Given the description of an element on the screen output the (x, y) to click on. 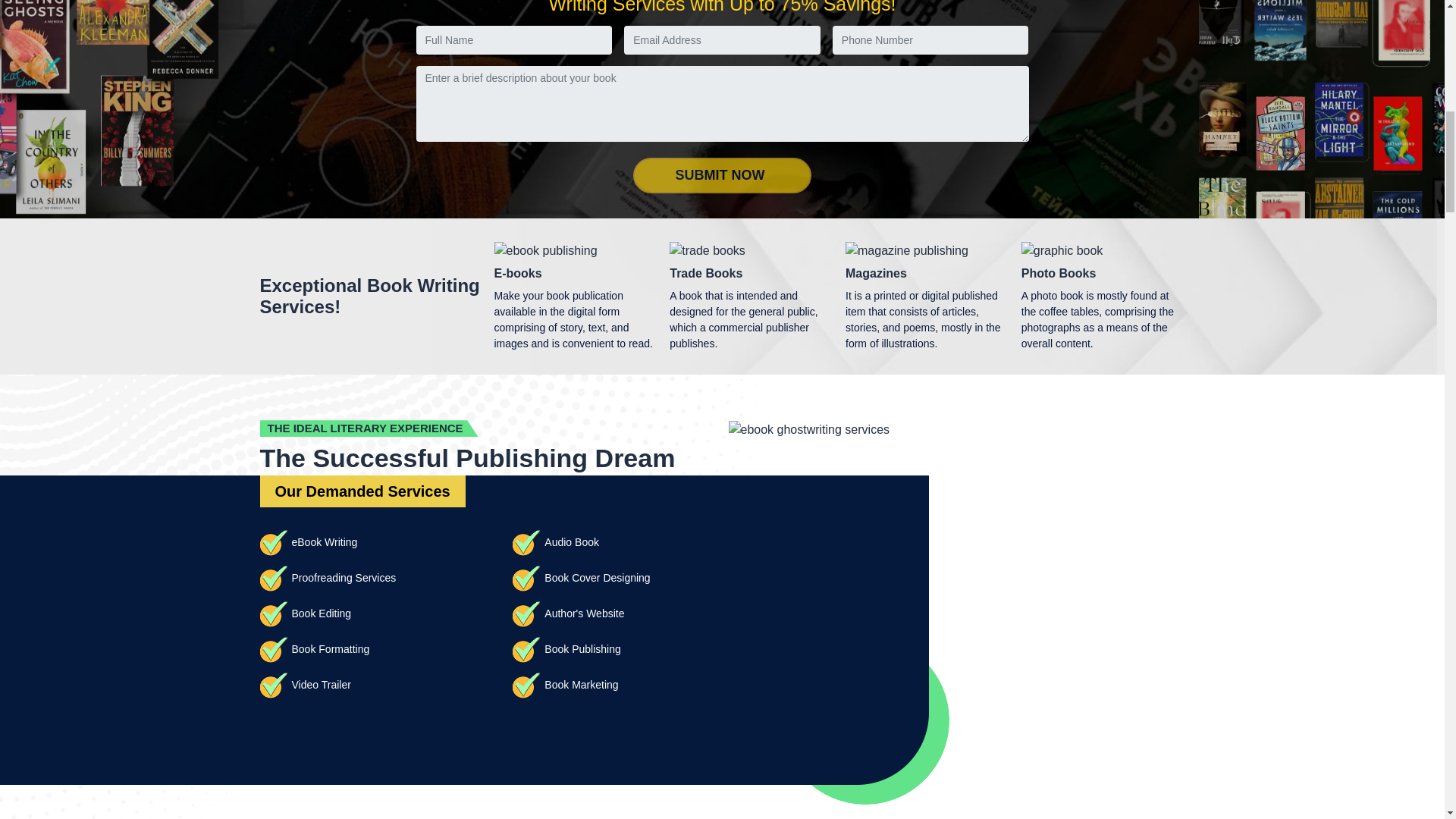
SUBMIT NOW (721, 176)
Ghostwriters for hire (317, 661)
